Given the description of an element on the screen output the (x, y) to click on. 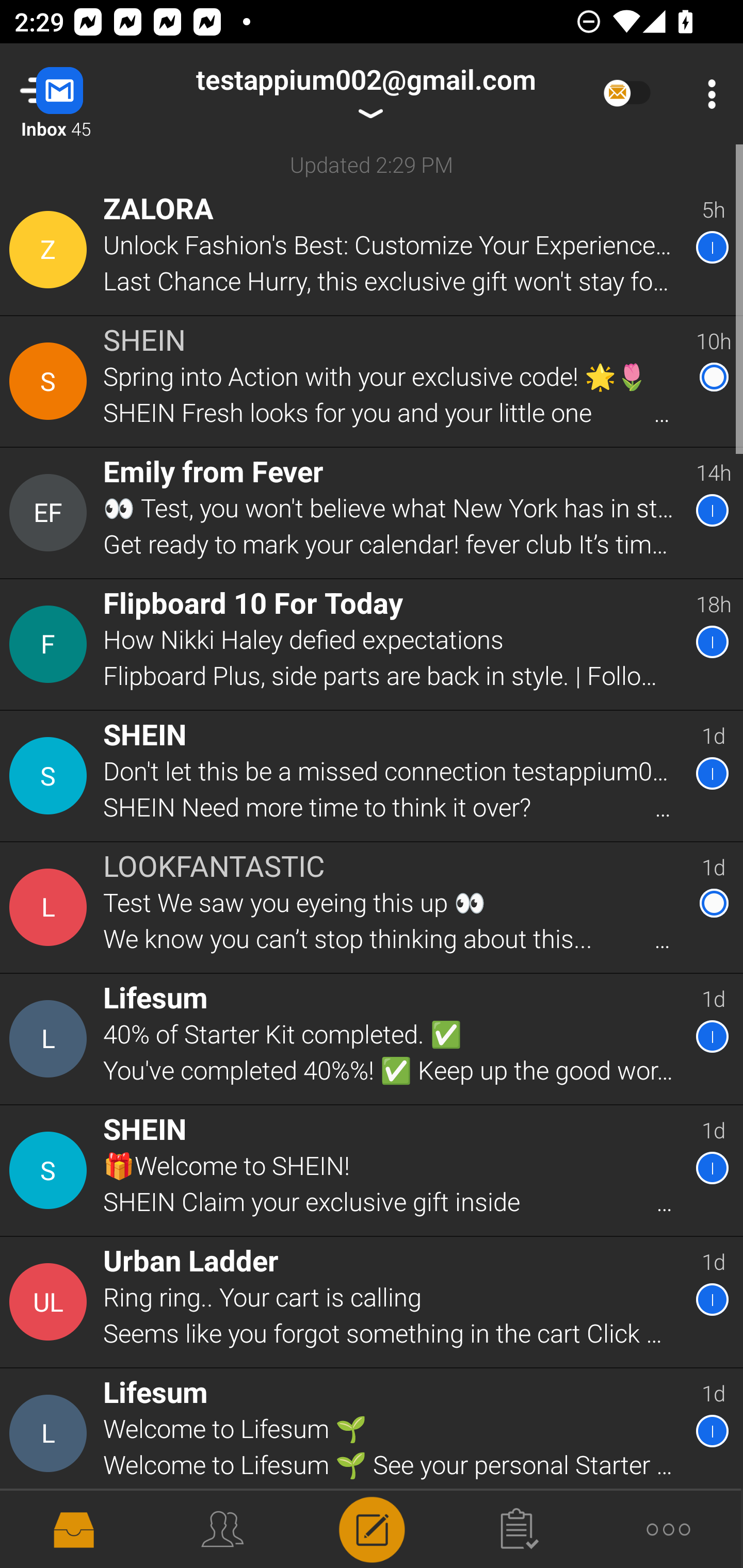
Navigate up (81, 93)
testappium002@gmail.com (365, 93)
More Options (706, 93)
Updated 2:29 PM (371, 164)
Contact Details (50, 250)
Contact Details (50, 381)
Contact Details (50, 513)
Contact Details (50, 644)
Contact Details (50, 776)
Contact Details (50, 907)
Contact Details (50, 1038)
Contact Details (50, 1170)
Contact Details (50, 1302)
Contact Details (50, 1433)
